Given the description of an element on the screen output the (x, y) to click on. 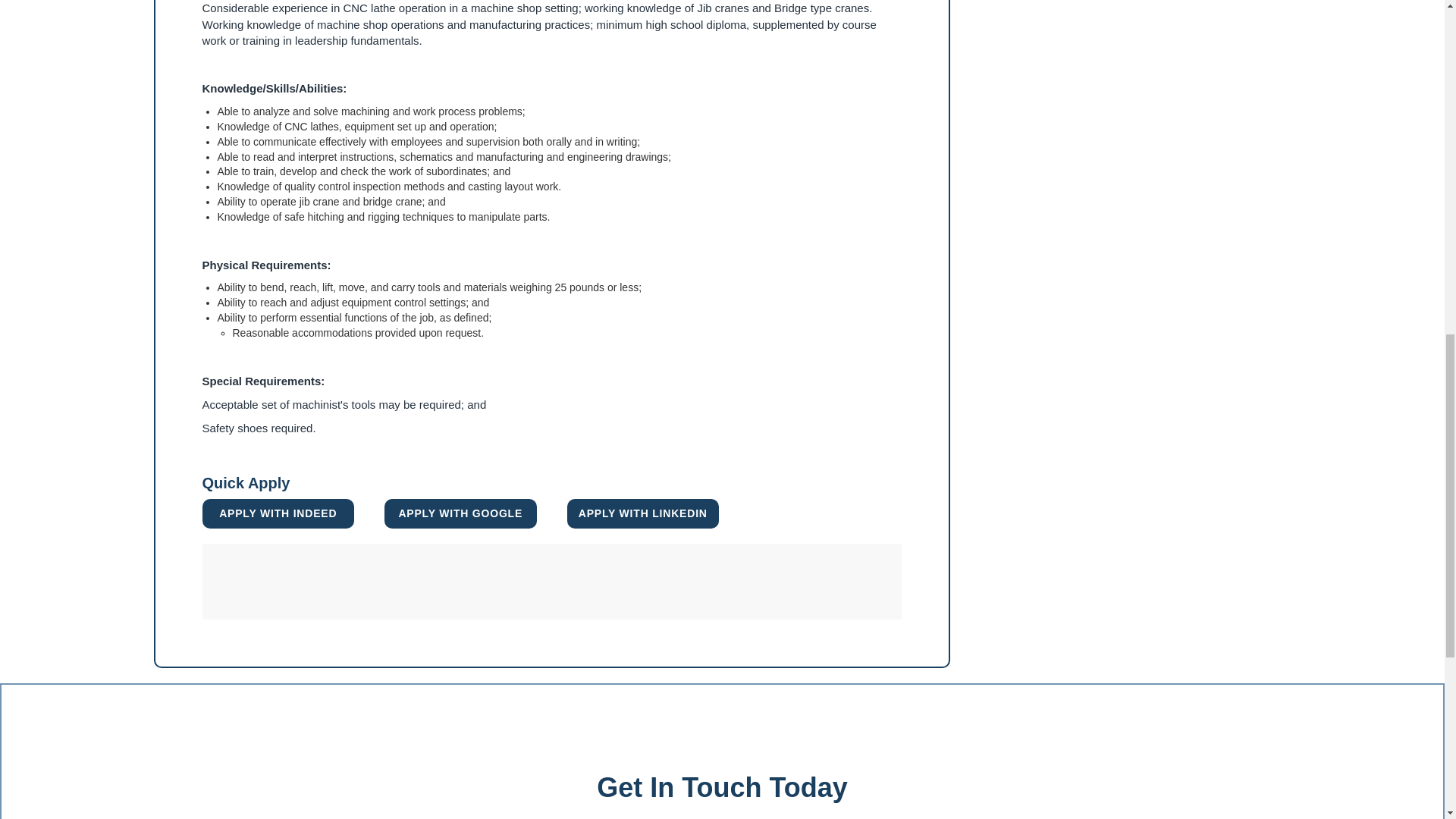
APPLY WITH LINKEDIN (643, 513)
APPLY WITH INDEED (277, 513)
APPLY WITH GOOGLE (460, 513)
